Given the description of an element on the screen output the (x, y) to click on. 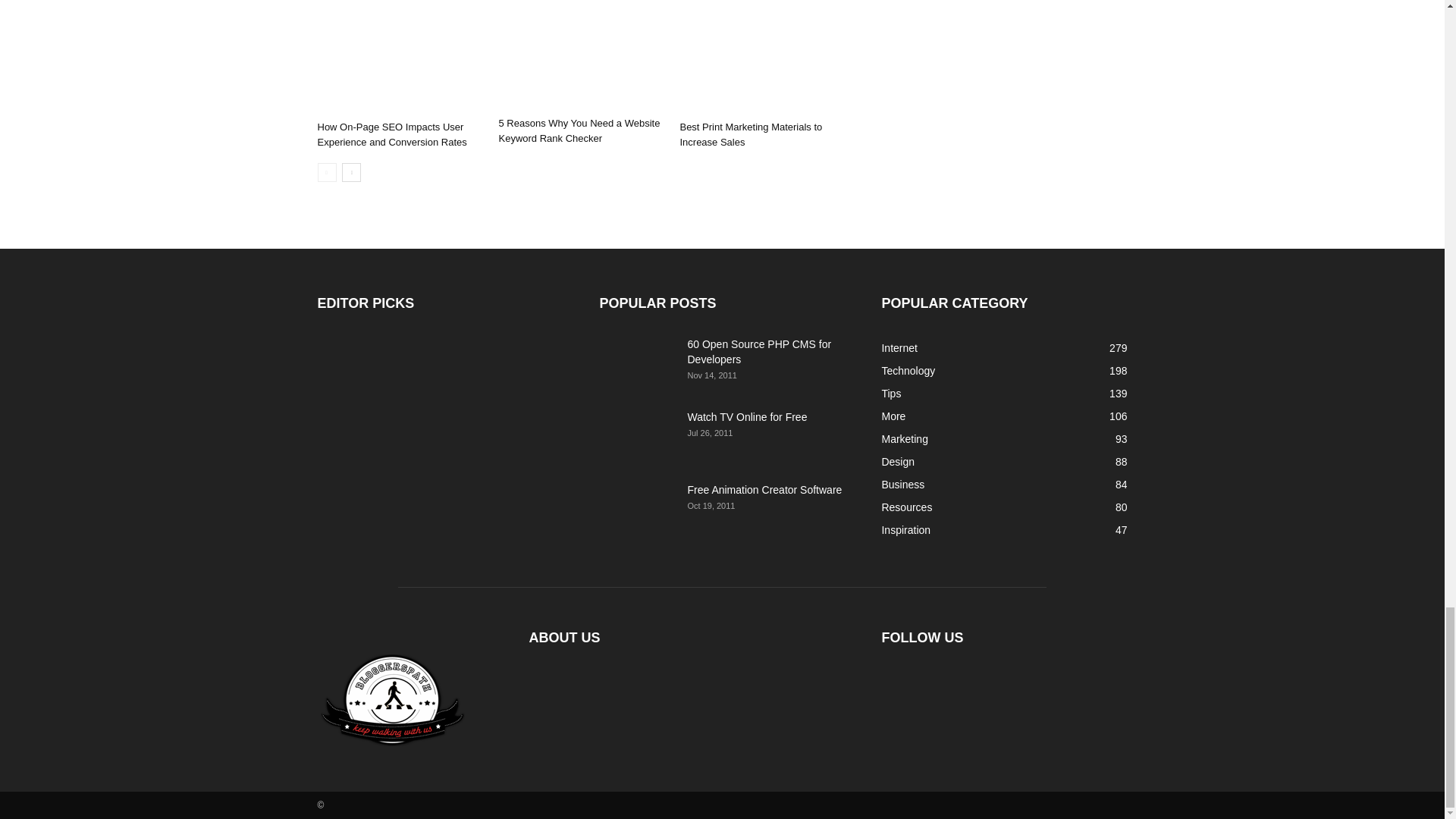
Best Print Marketing Materials to Increase Sales (761, 57)
5 Reasons Why You Need a Website Keyword Rank Checker (580, 55)
How On-Page SEO Impacts User Experience and Conversion Rates (391, 134)
Watch TV Online for Free (636, 435)
60 Open Source PHP CMS for Developers (759, 351)
60 Open Source PHP CMS for Developers (636, 362)
Watch TV Online for Free (746, 417)
Free Animation Creator Software (636, 508)
5 Reasons Why You Need a Website Keyword Rank Checker (578, 130)
How On-Page SEO Impacts User Experience and Conversion Rates (399, 57)
